Given the description of an element on the screen output the (x, y) to click on. 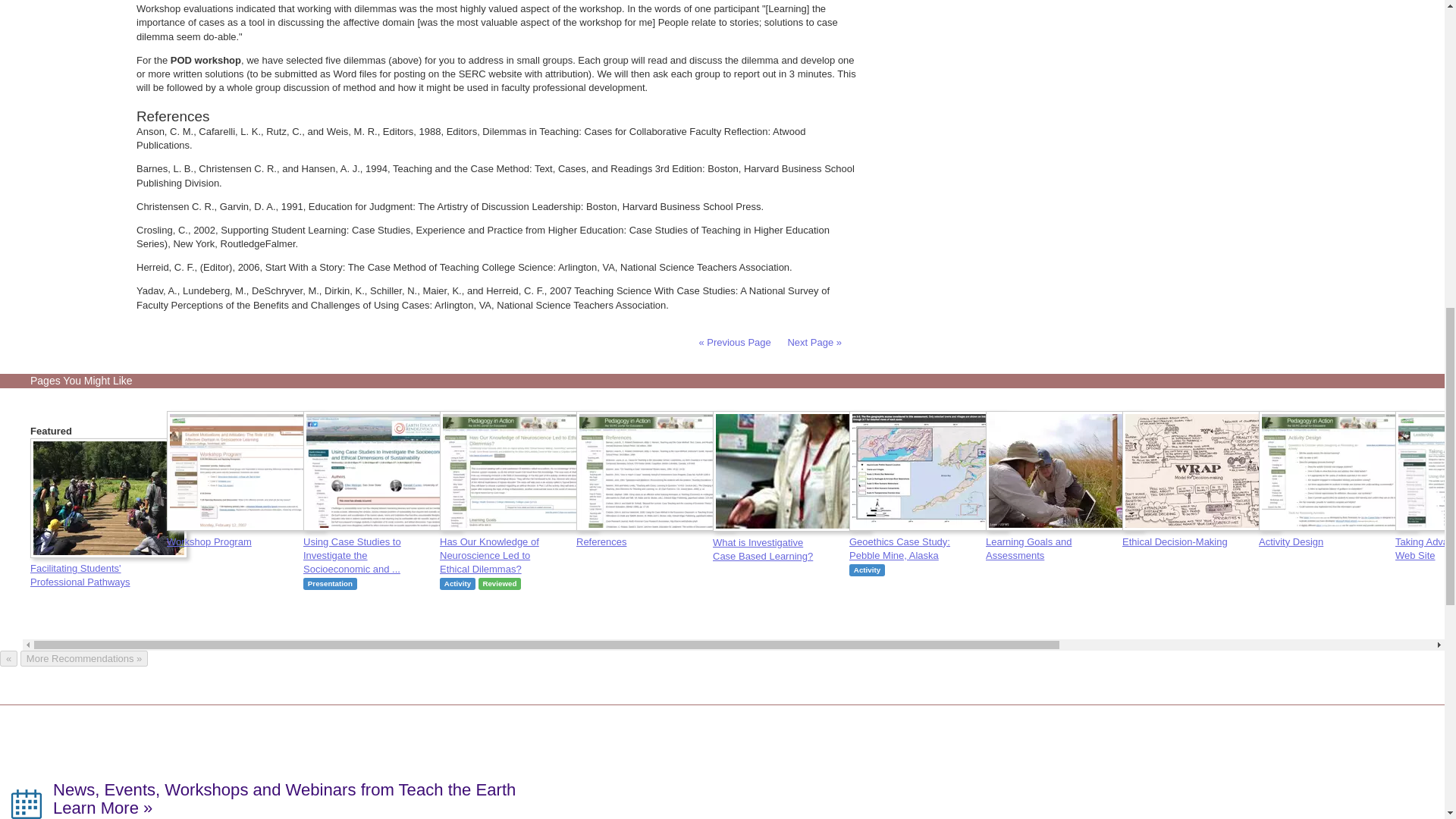
References (654, 534)
Has Our Knowledge of Neuroscience Led to Ethical Dilemmas? (517, 547)
Using Case Studies to Investigate the Socioeconomic and ... (381, 547)
What is Investigative Case Based Learning? (791, 541)
Workshop Program (245, 534)
Geoethics Case Study: Pebble Mine, Alaska (927, 540)
Facilitating Students' Professional Pathways (108, 568)
Learning Goals and Assessments (1063, 540)
